Given the description of an element on the screen output the (x, y) to click on. 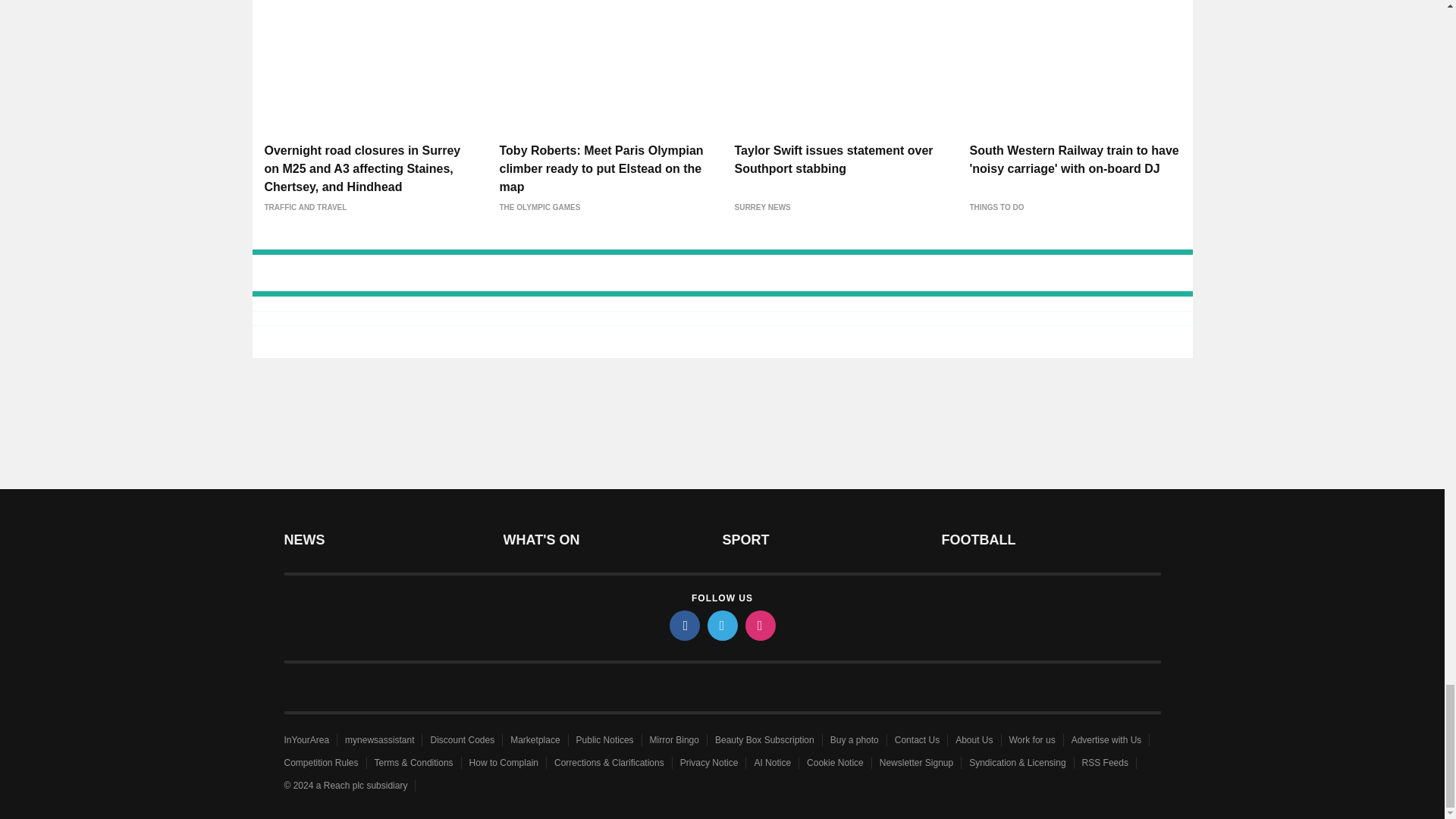
instagram (759, 625)
twitter (721, 625)
facebook (683, 625)
